Given the description of an element on the screen output the (x, y) to click on. 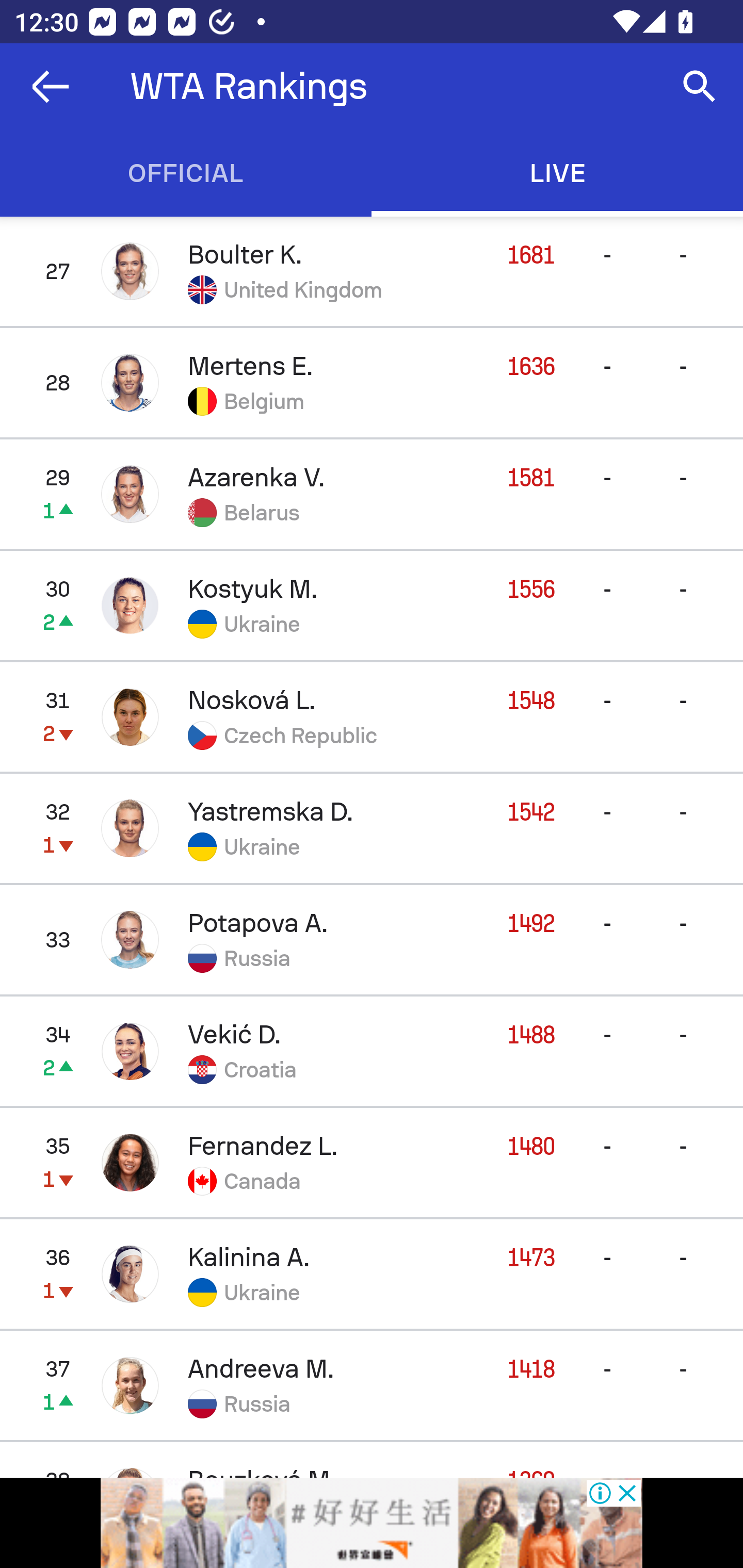
Navigate up (50, 86)
Search (699, 86)
Official OFFICIAL (185, 173)
27 Boulter K. 1681 - - United Kingdom (371, 271)
28 Mertens E. 1636 - - Belgium (371, 382)
29 1 Azarenka V. 1581 - - Belarus (371, 493)
30 2 Kostyuk M. 1556 - - Ukraine (371, 605)
31 2 Nosková L. 1548 - - Czech Republic (371, 716)
32 1 Yastremska D. 1542 - - Ukraine (371, 827)
33 Potapova A. 1492 - - Russia (371, 939)
34 2 Vekić D. 1488 - - Croatia (371, 1051)
35 1 Fernandez L. 1480 - - Canada (371, 1162)
36 1 Kalinina A. 1473 - - Ukraine (371, 1273)
37 1 Andreeva M. 1418 - - Russia (371, 1385)
Advertisement (371, 1522)
